Given the description of an element on the screen output the (x, y) to click on. 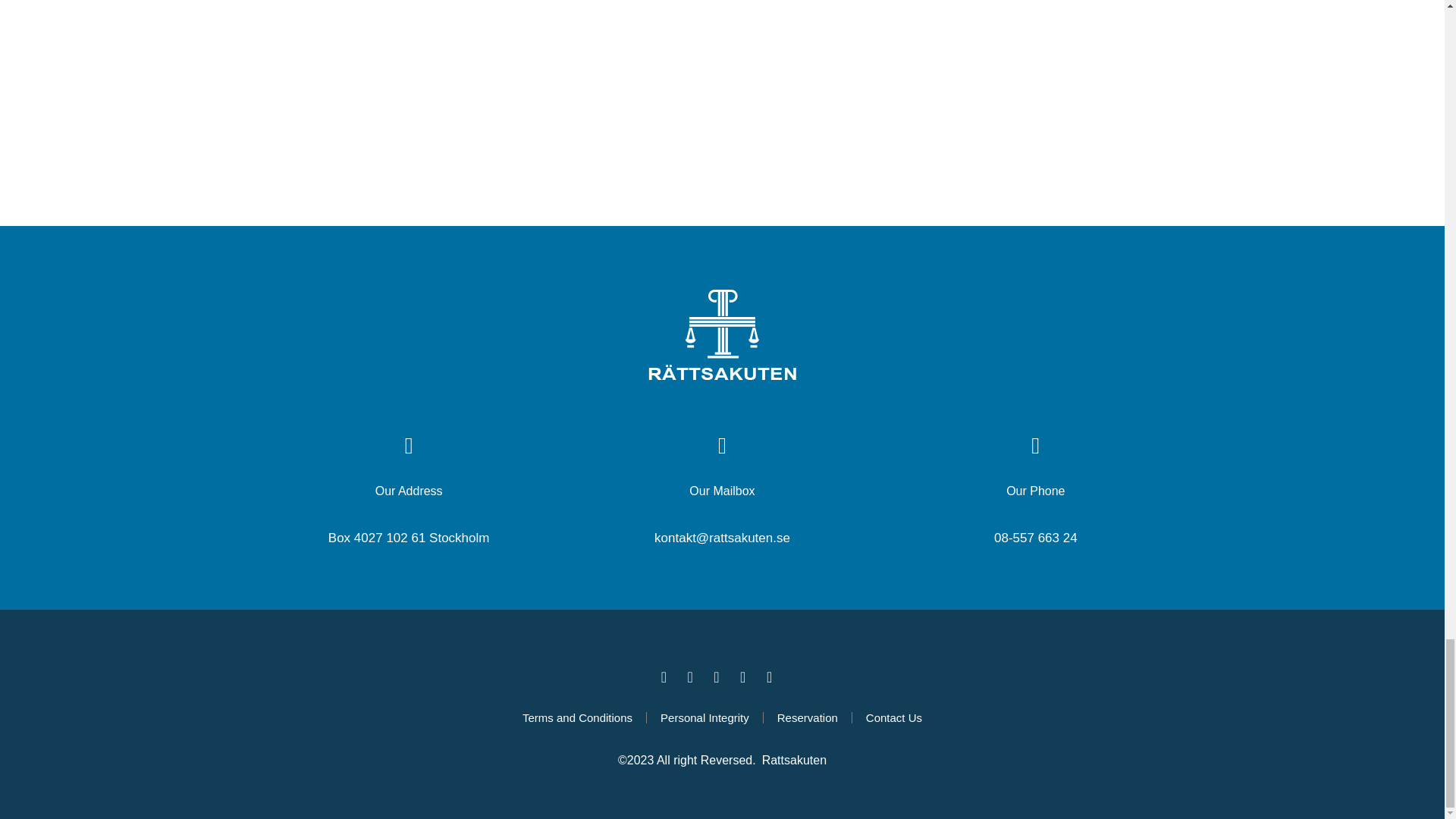
Post Comment (320, 155)
